Given the description of an element on the screen output the (x, y) to click on. 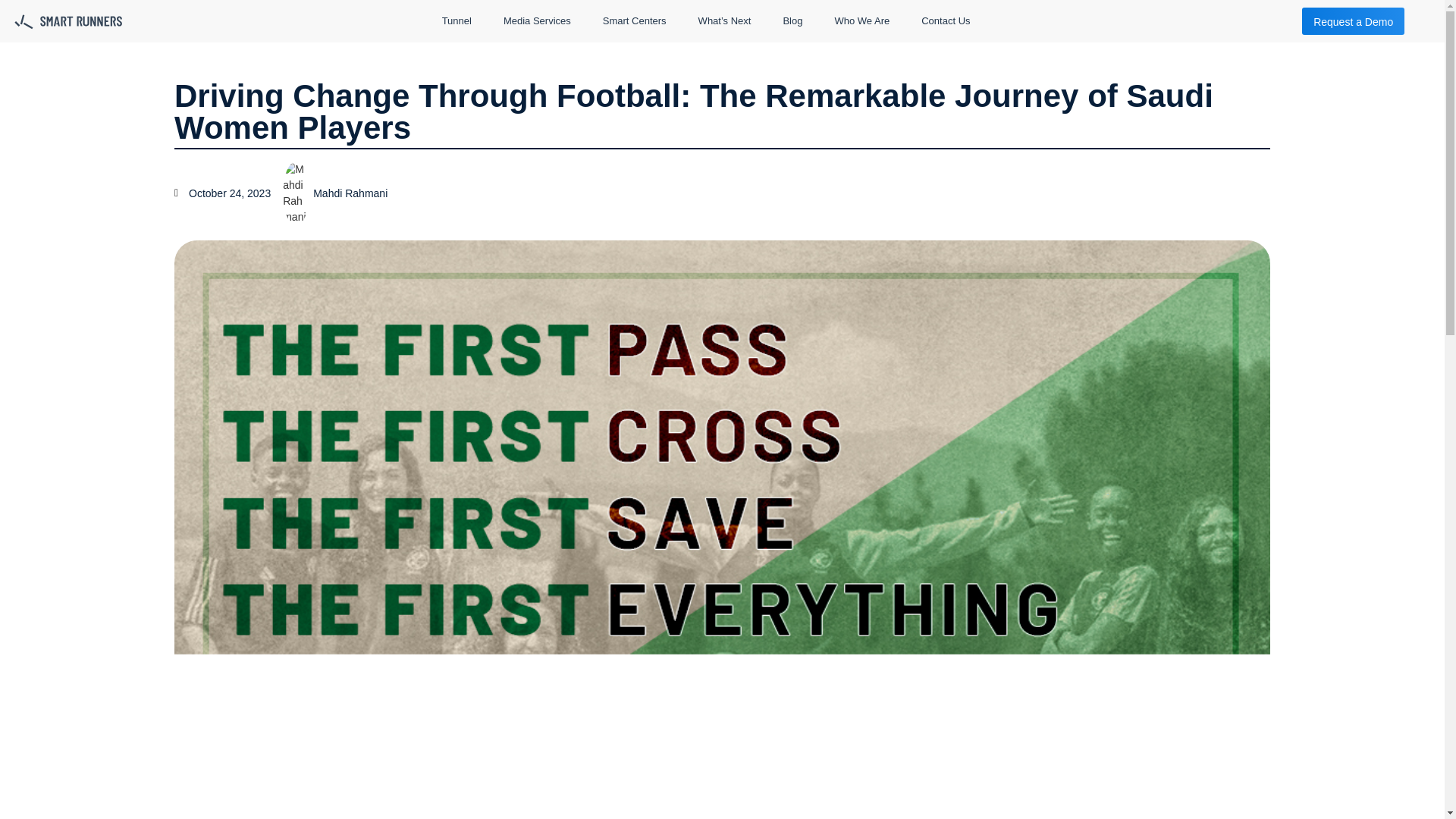
Blog (792, 21)
Tunnel (456, 21)
Smart Centers (634, 21)
Media Services (536, 21)
Contact Us (945, 21)
Who We Are (861, 21)
Request a Demo (1353, 21)
